Given the description of an element on the screen output the (x, y) to click on. 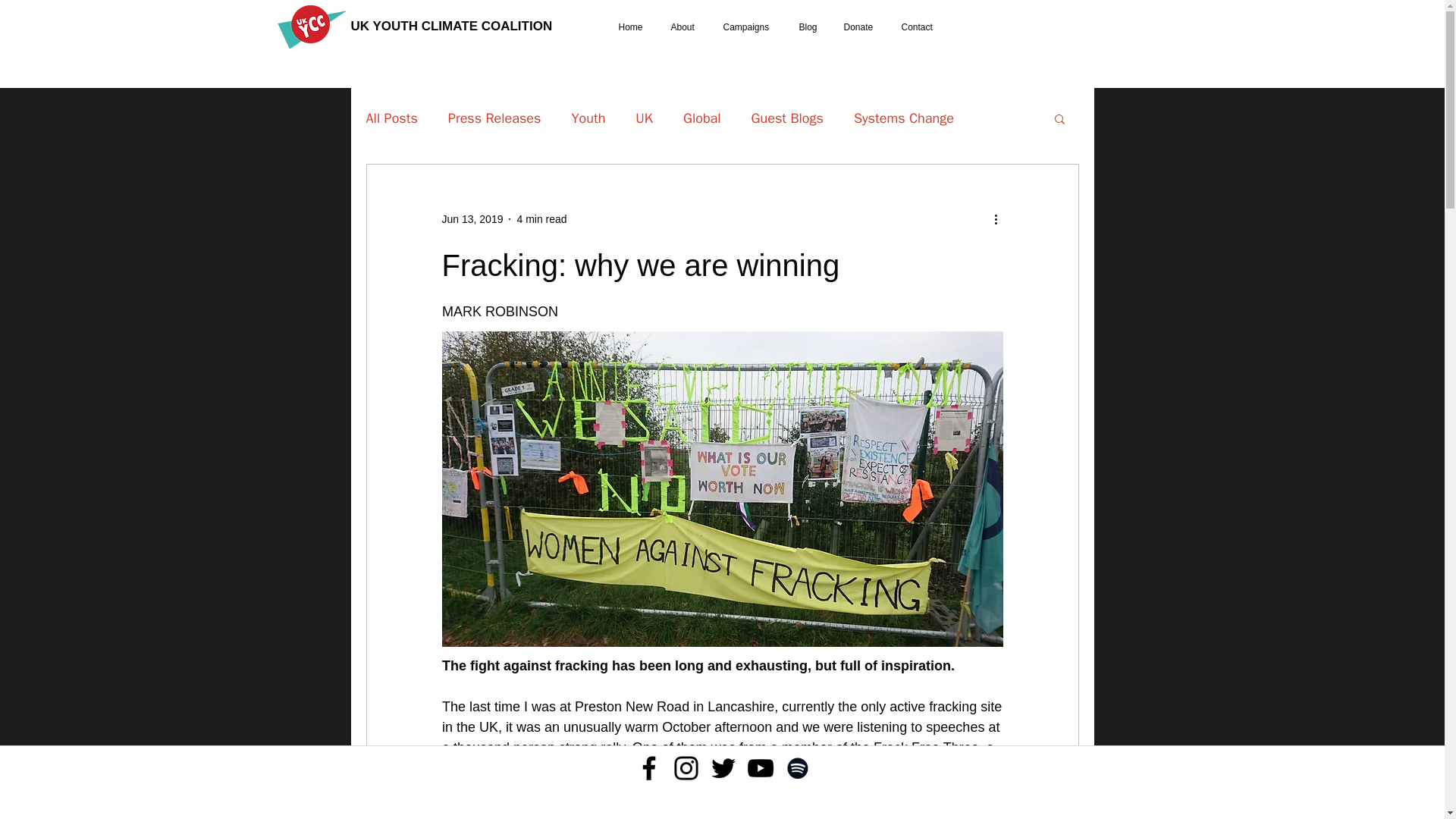
Donate (859, 26)
Contact (918, 26)
Press Releases (494, 117)
sentences overturned (615, 788)
Home (632, 26)
Youth (587, 117)
About (684, 26)
Systems Change (903, 117)
Blog (809, 26)
Global (701, 117)
4 min read (541, 218)
Jun 13, 2019 (471, 218)
Campaigns (749, 26)
UK (643, 117)
All Posts (390, 117)
